Given the description of an element on the screen output the (x, y) to click on. 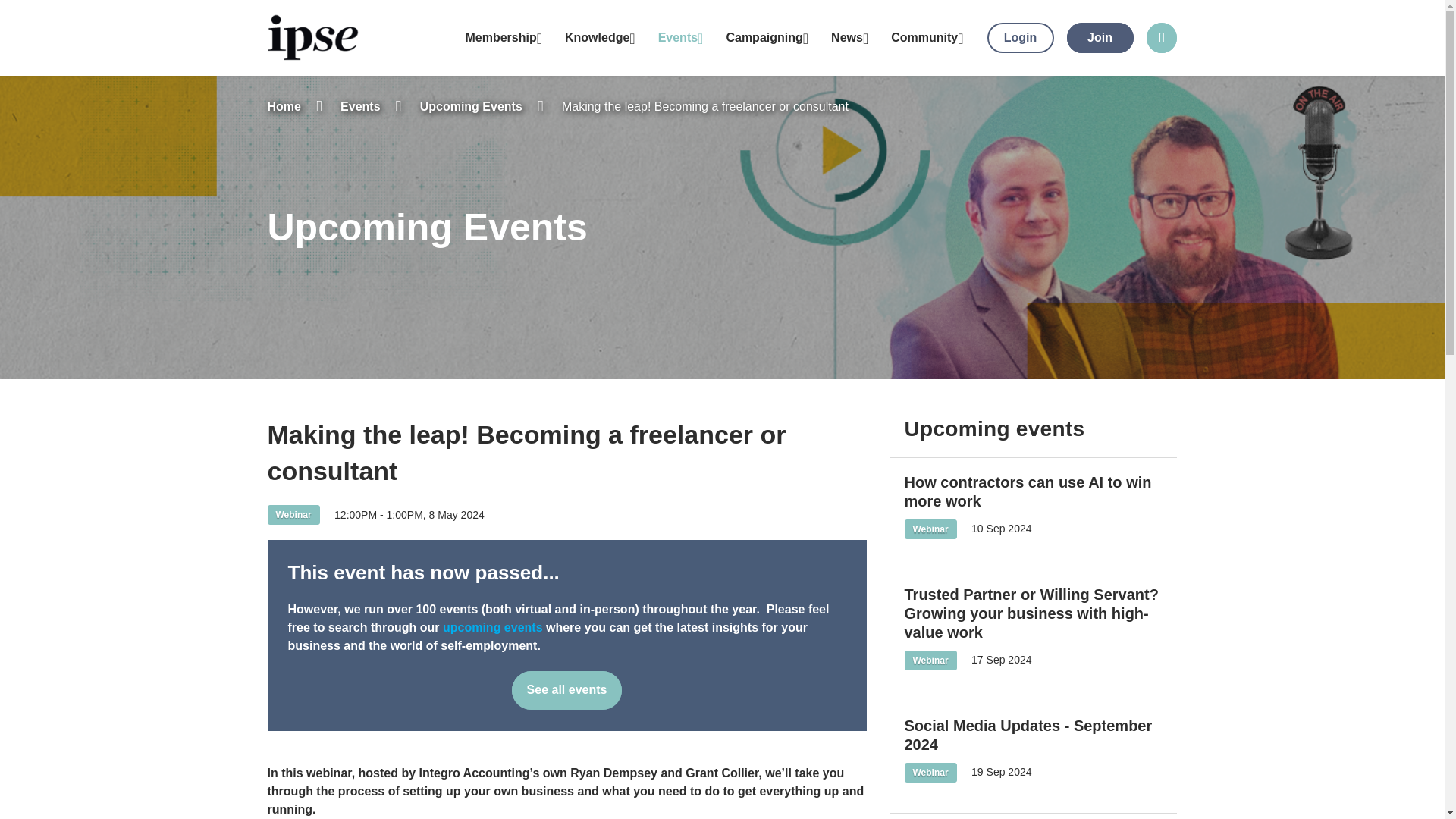
Campaigning (766, 38)
Knowledge (599, 38)
Events (680, 38)
Membership (502, 38)
Community (926, 38)
